Given the description of an element on the screen output the (x, y) to click on. 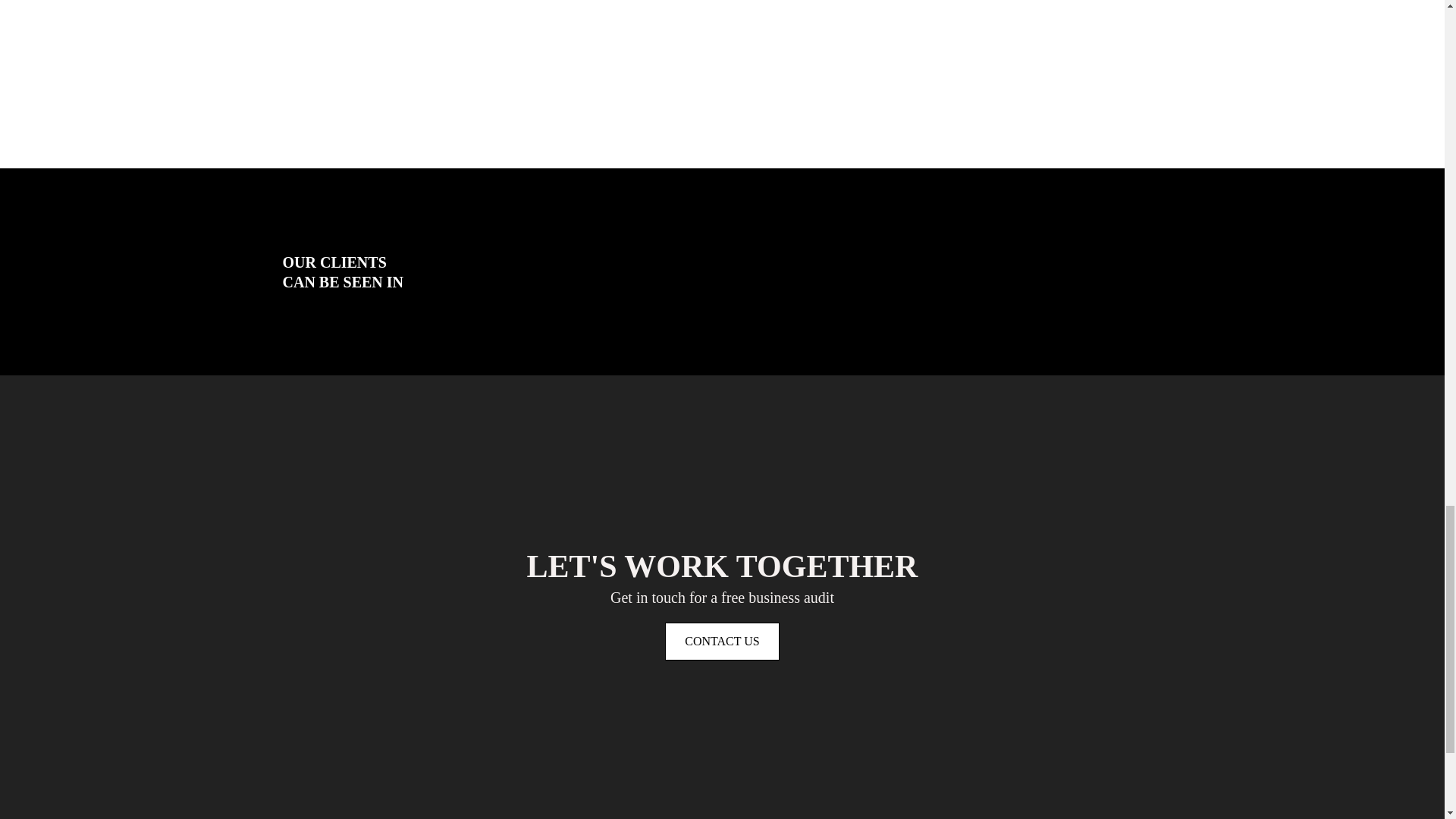
CONTACT US (721, 641)
